Given the description of an element on the screen output the (x, y) to click on. 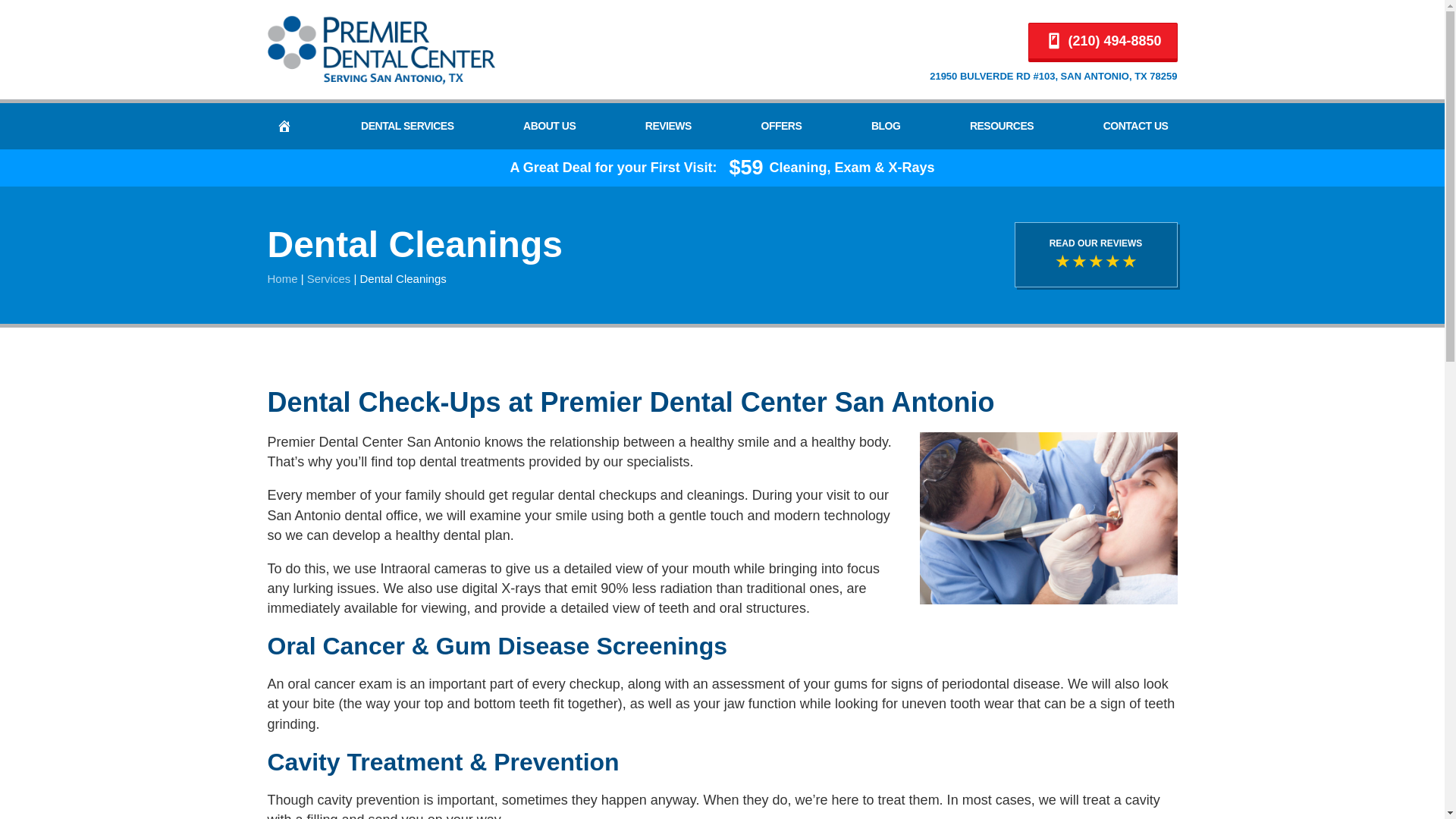
ABOUT US (549, 125)
CONTACT US (1135, 125)
DENTAL SERVICES (407, 125)
OFFERS (781, 125)
RESOURCES (1001, 125)
BLOG (884, 125)
Home (281, 278)
REVIEWS (668, 125)
Services (328, 278)
